Given the description of an element on the screen output the (x, y) to click on. 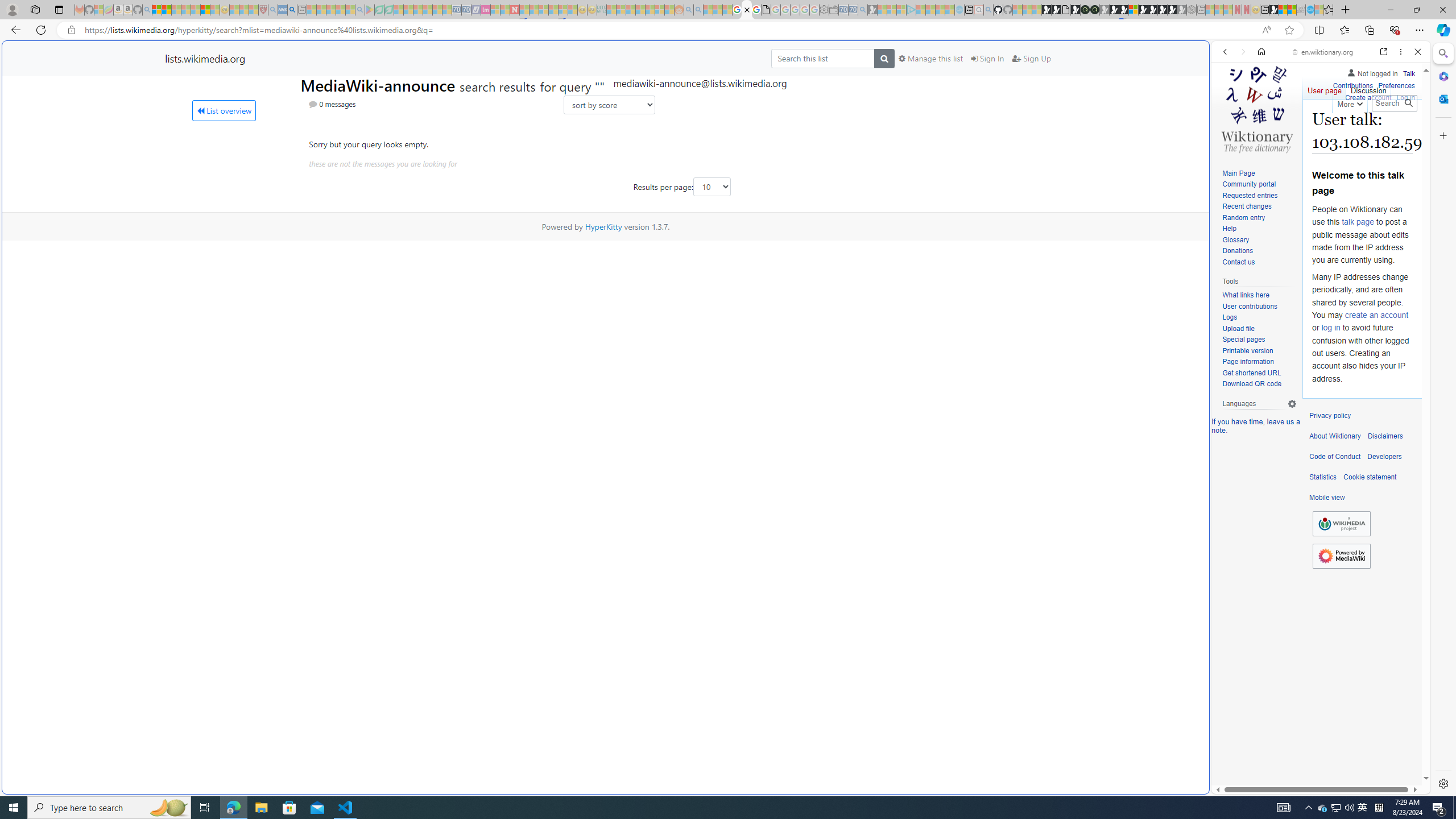
log in (1330, 327)
Create account (1367, 98)
Discussion (1367, 87)
Bing Real Estate - Home sales and rental listings - Sleeping (862, 9)
create an account (1376, 314)
google_privacy_policy_zh-CN.pdf (766, 9)
If you have time, leave us a note. (1255, 425)
Donations (1259, 251)
